Given the description of an element on the screen output the (x, y) to click on. 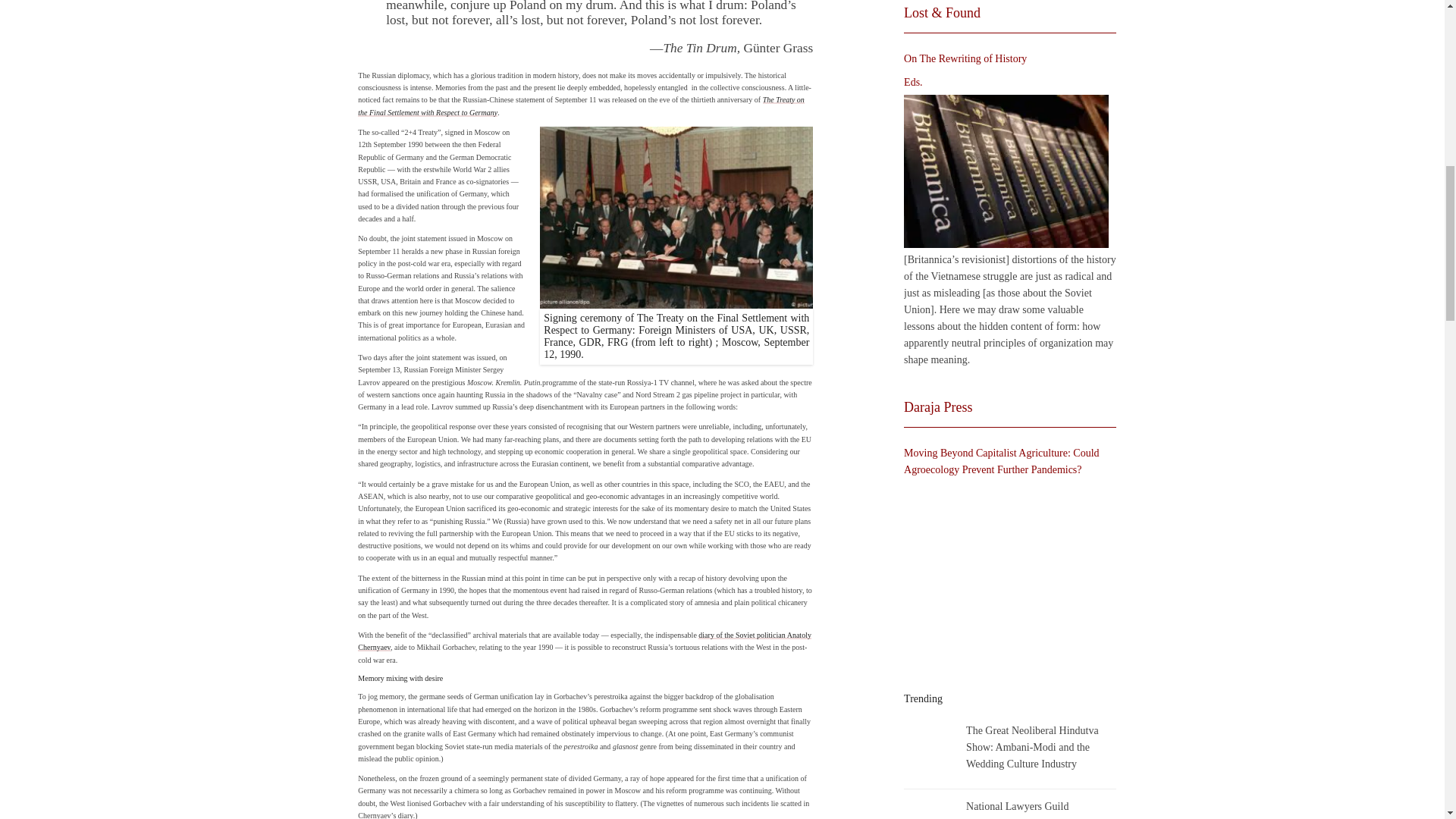
Posts by Eds. (913, 82)
On The Rewriting of History (1006, 171)
